Given the description of an element on the screen output the (x, y) to click on. 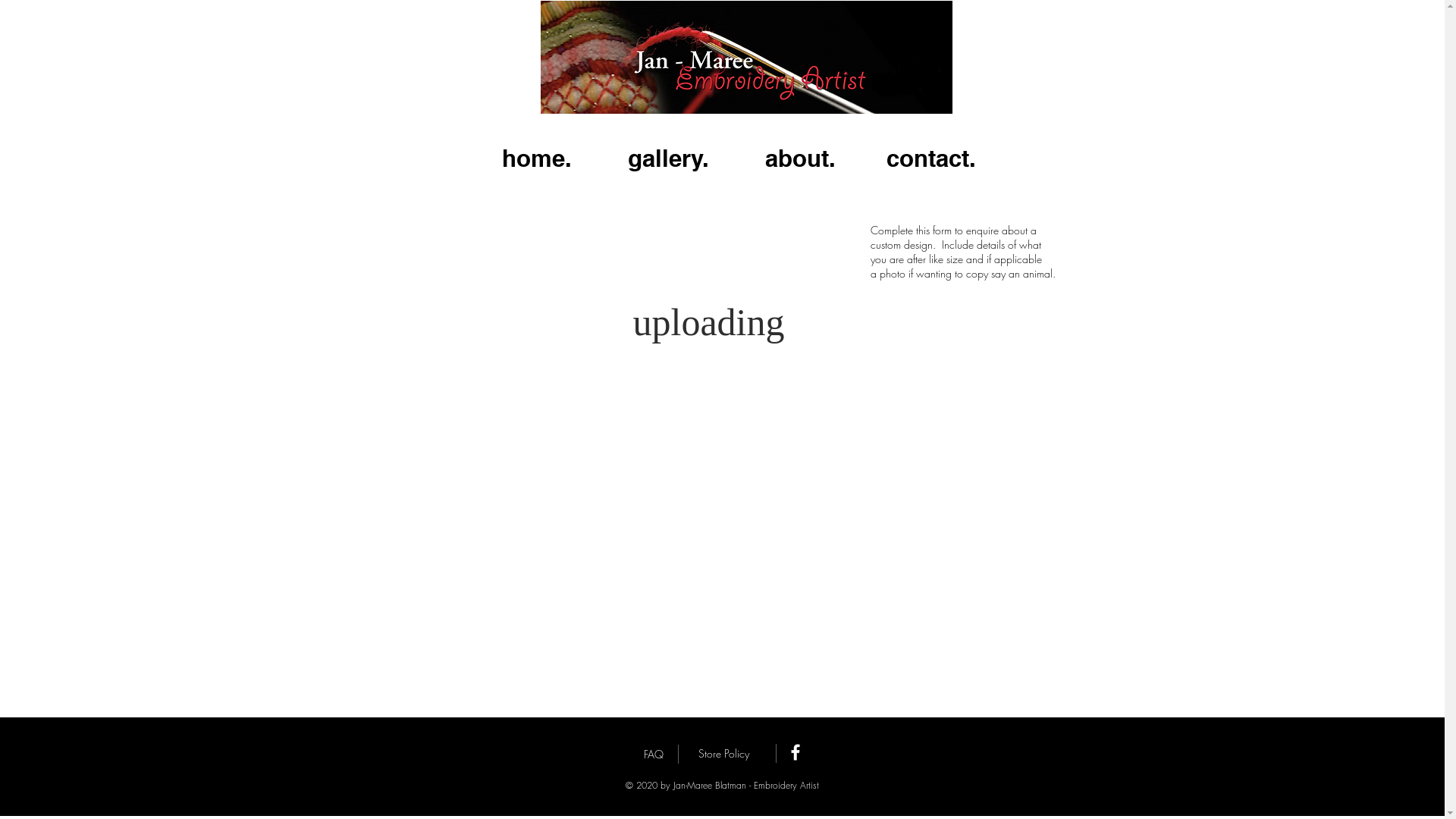
home. Element type: text (536, 157)
about. Element type: text (799, 157)
FAQ Element type: text (653, 754)
Store Policy Element type: text (722, 753)
contact. Element type: text (931, 157)
